Given the description of an element on the screen output the (x, y) to click on. 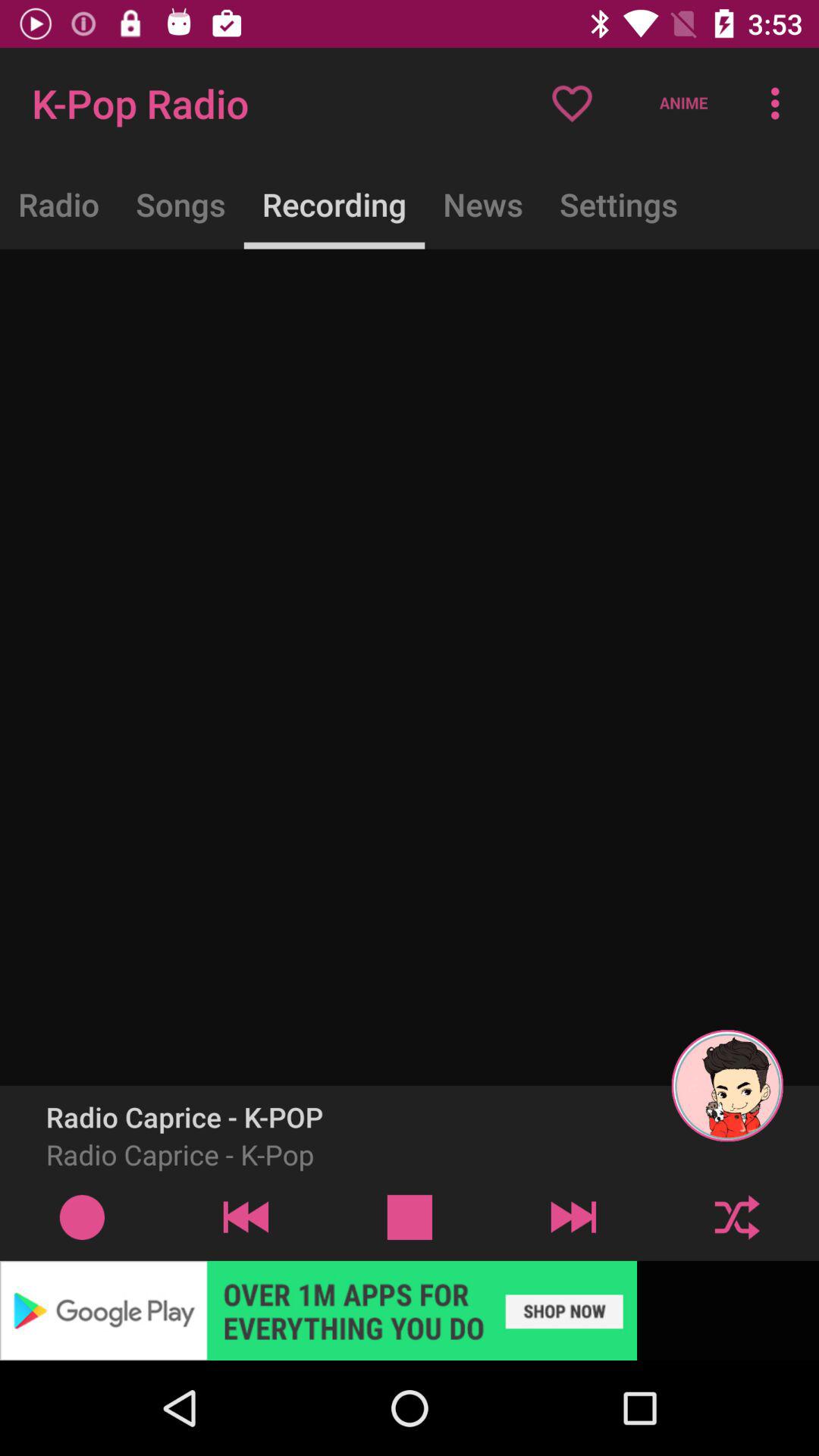
sad (409, 1216)
